Given the description of an element on the screen output the (x, y) to click on. 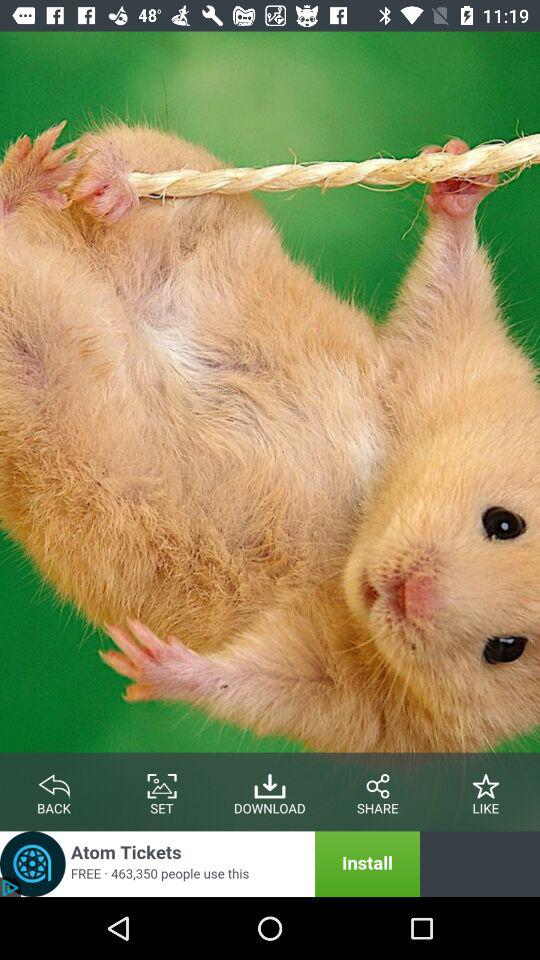
share the post (377, 782)
